Given the description of an element on the screen output the (x, y) to click on. 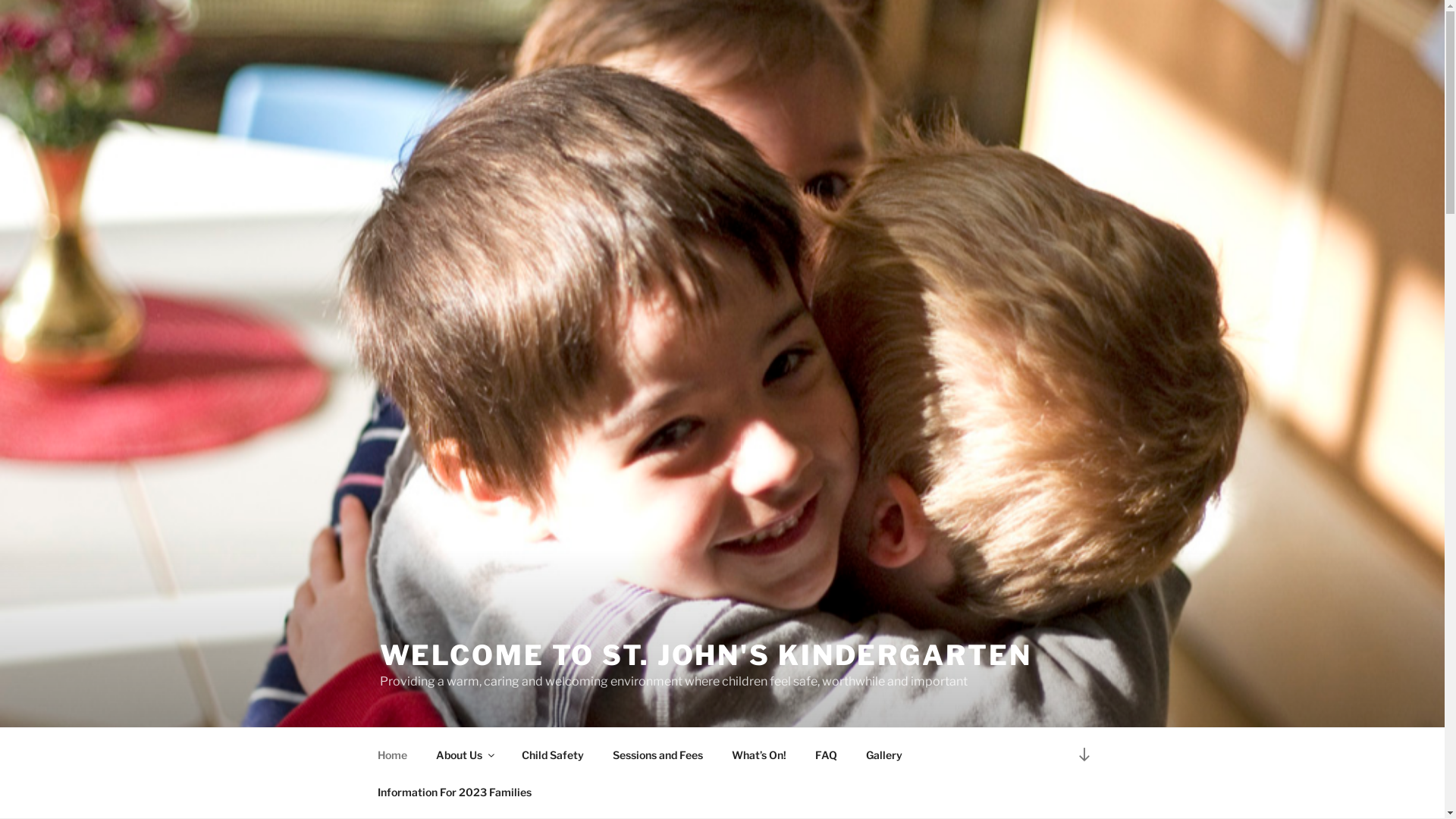
Home Element type: text (392, 753)
Child Safety Element type: text (552, 753)
About Us Element type: text (464, 753)
Gallery Element type: text (883, 753)
FAQ Element type: text (826, 753)
WELCOME TO ST. JOHN'S KINDERGARTEN Element type: text (705, 654)
Information For 2023 Families Element type: text (454, 791)
Sessions and Fees Element type: text (657, 753)
Scroll down to content Element type: text (1083, 753)
